Given the description of an element on the screen output the (x, y) to click on. 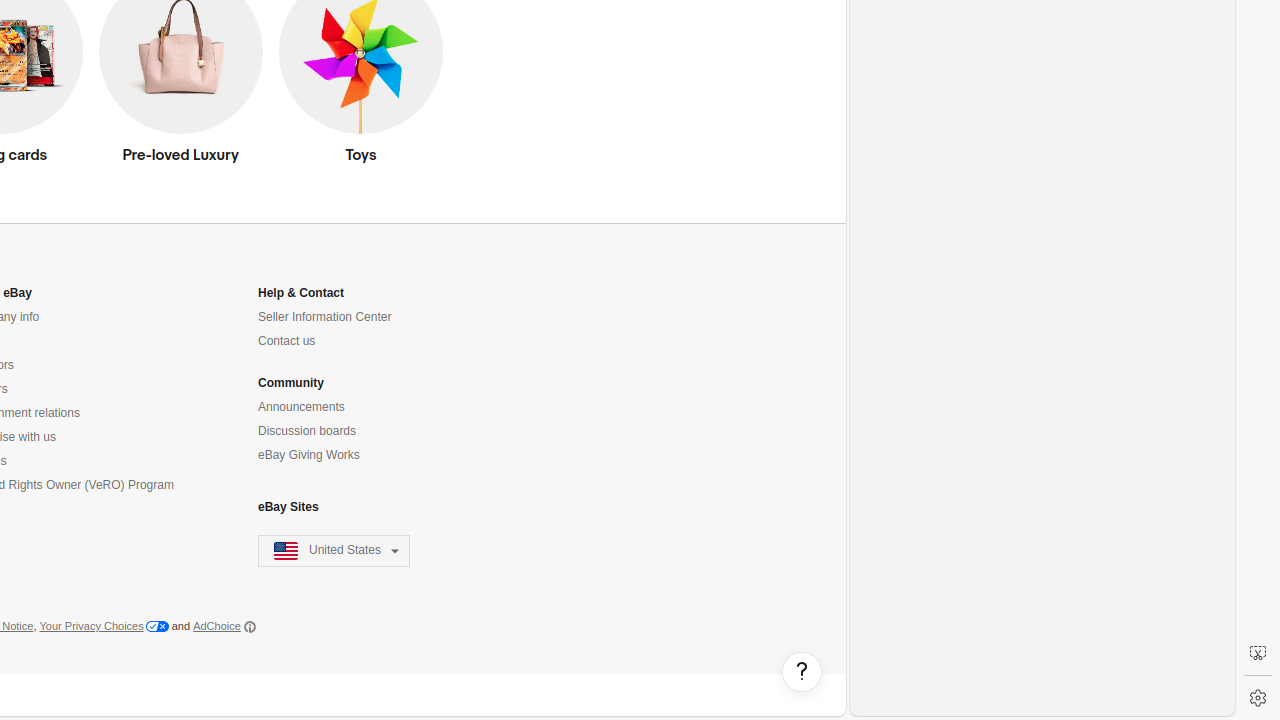
eBay Giving Works Element type: link (309, 455)
Contact us Element type: link (287, 341)
Discussion boards Element type: link (307, 431)
Your Privacy Choices Element type: link (104, 627)
Screenshot Element type: push-button (1258, 653)
